Given the description of an element on the screen output the (x, y) to click on. 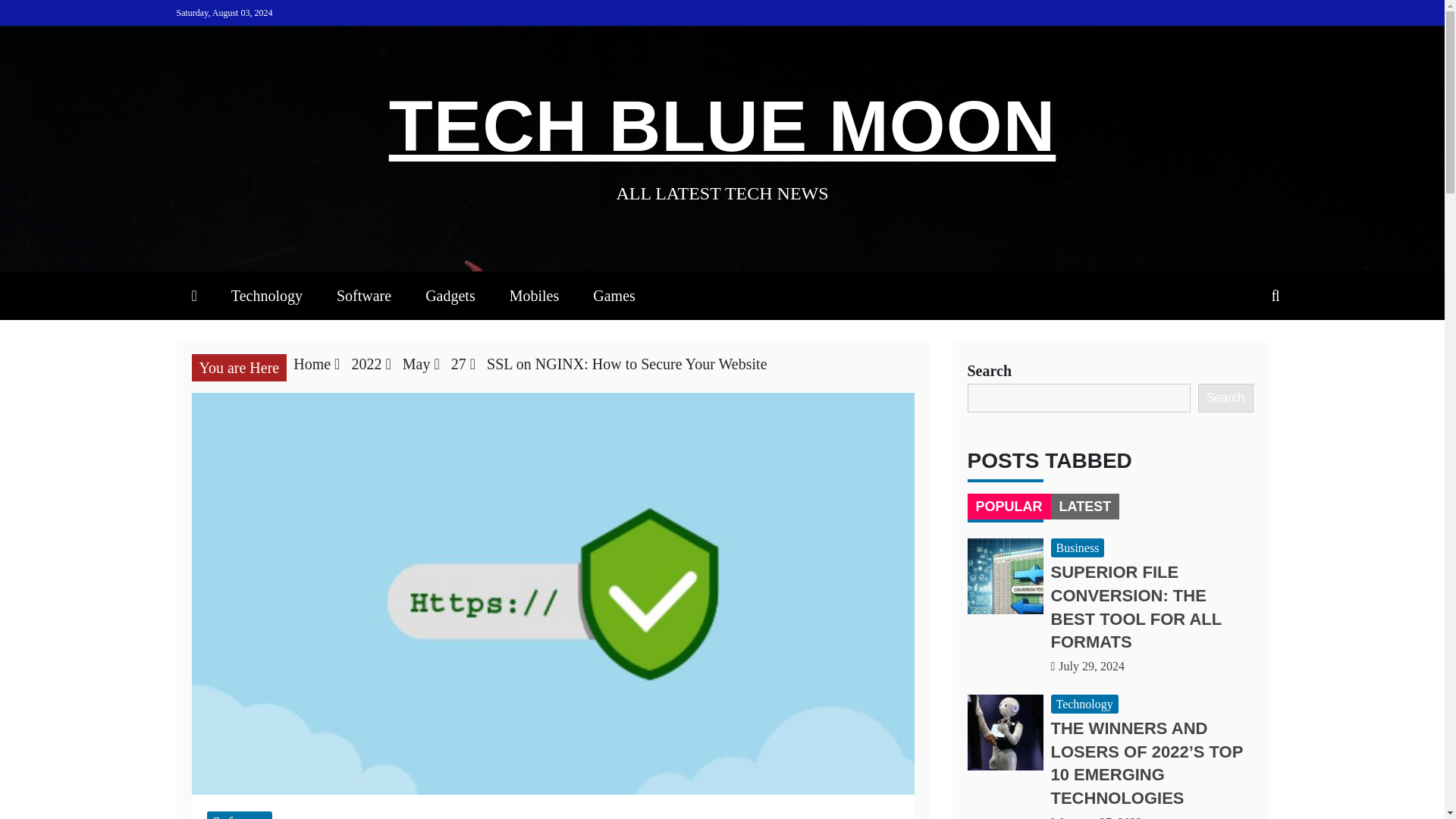
Mobiles (535, 295)
Home (312, 363)
Games (614, 295)
27 (458, 363)
Technology (266, 295)
Software (238, 815)
Gadgets (450, 295)
TECH BLUE MOON (722, 125)
May (416, 363)
2022 (365, 363)
